Given the description of an element on the screen output the (x, y) to click on. 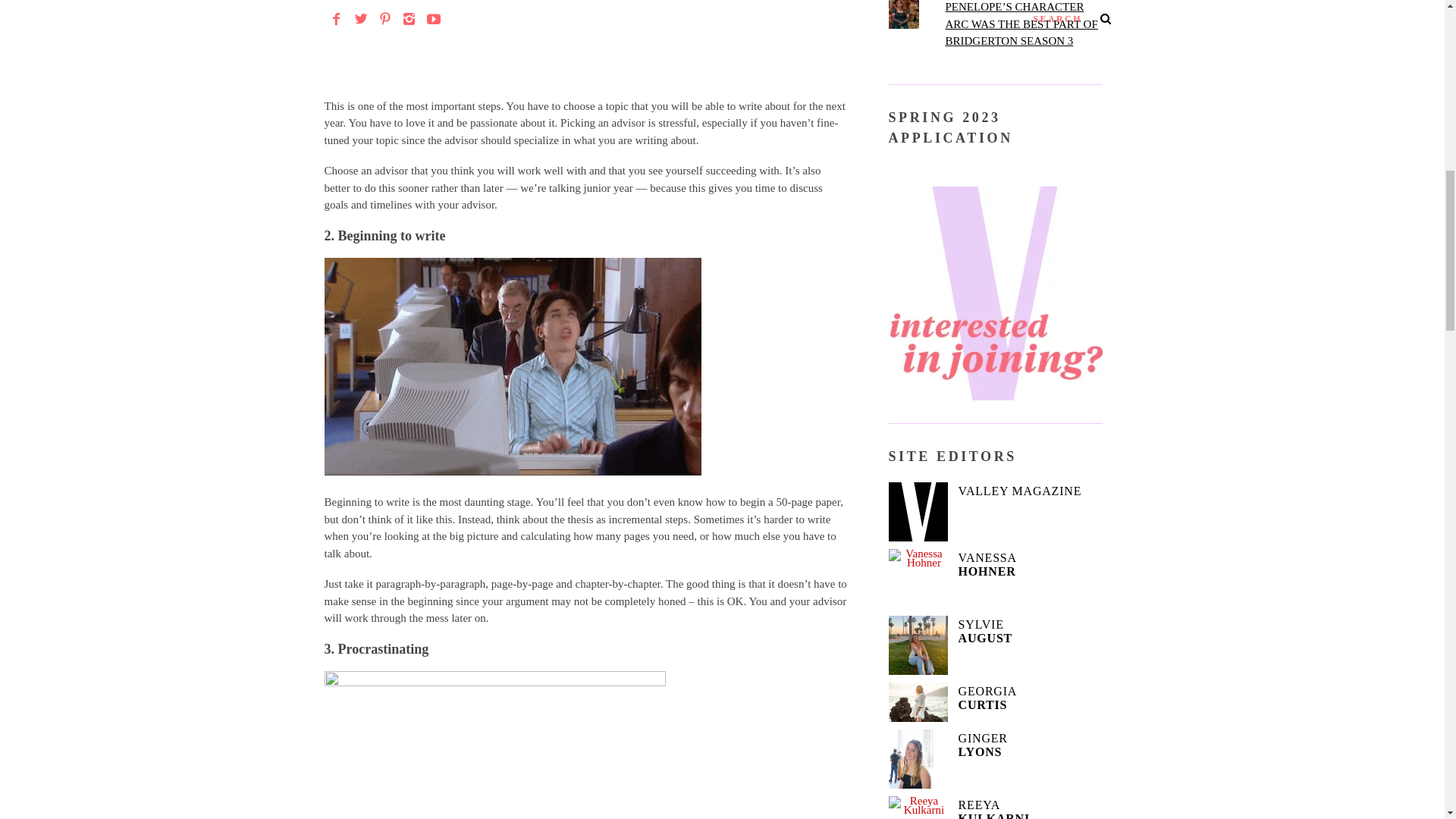
Reeya Kulkarni (917, 807)
Georgia Curtis (917, 701)
Sylvie August (917, 644)
Vanessa Hohner (917, 578)
VALLEY Magazine (917, 511)
Ginger Lyons (917, 758)
